Given the description of an element on the screen output the (x, y) to click on. 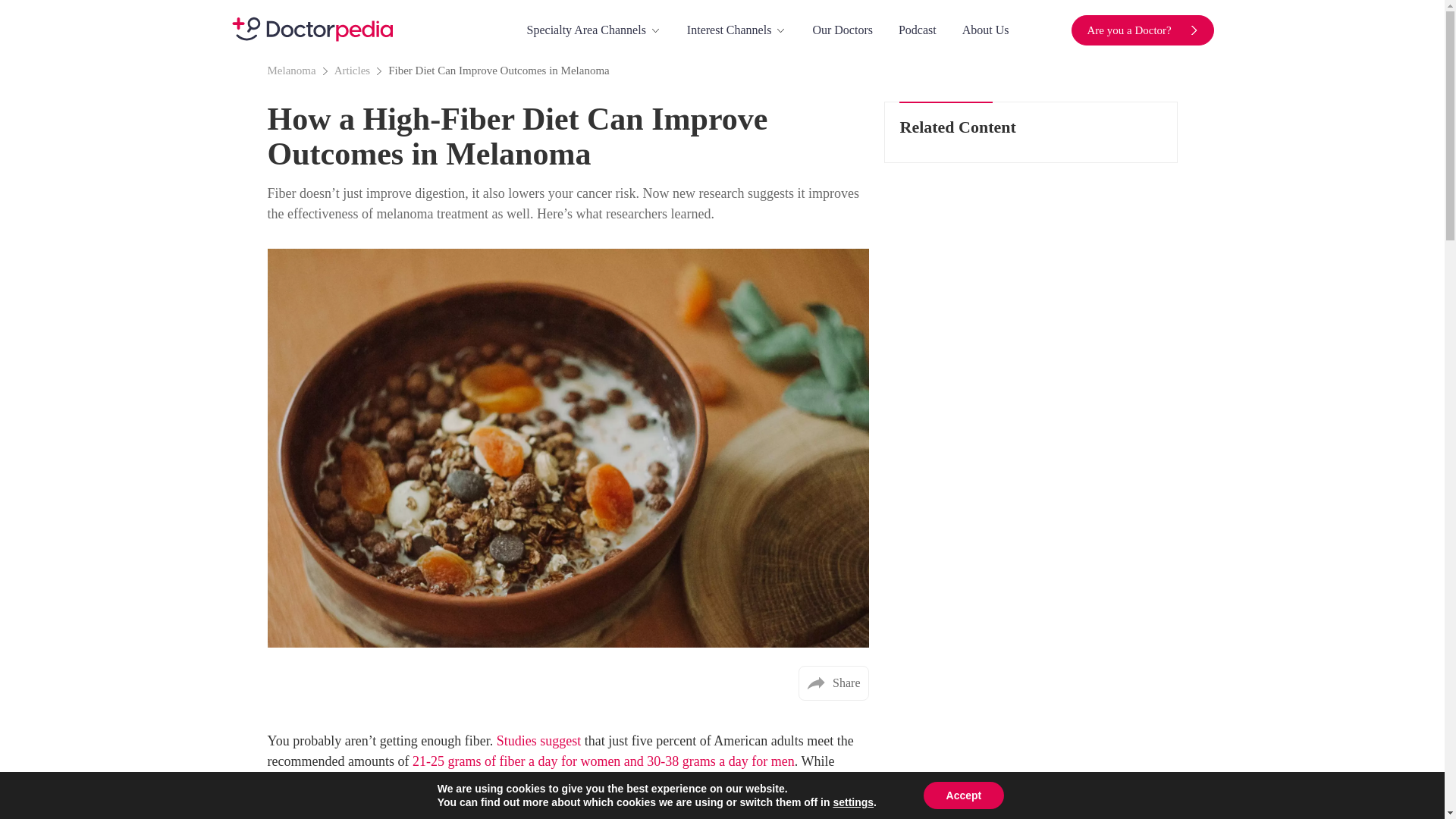
Podcast (917, 29)
Melanoma (299, 69)
Are you a Doctor? (1142, 29)
Articles (361, 69)
Studies suggest (536, 740)
Interest Channels (737, 29)
Specialty Area Channels (594, 29)
About Us (985, 29)
Our Doctors (842, 29)
